Given the description of an element on the screen output the (x, y) to click on. 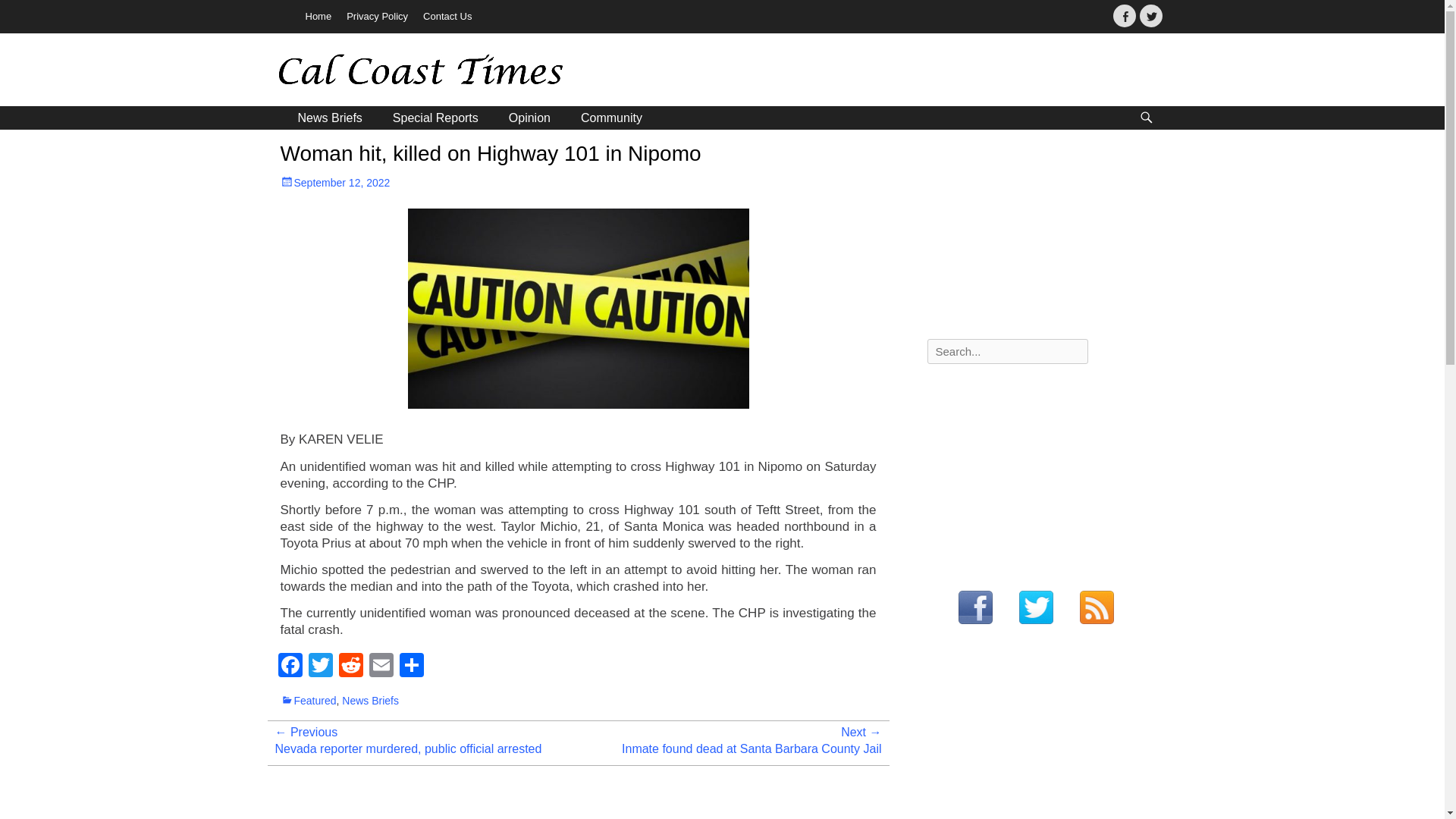
Contact Us (446, 16)
News Briefs (370, 700)
3rd party ad content (900, 70)
Cal Coast Times on Facebook (974, 608)
Facebook (1124, 15)
Facebook (289, 666)
Email (380, 666)
Twitter (319, 666)
Facebook (289, 666)
Share (411, 666)
3rd party ad content (1040, 737)
Home (318, 16)
Opinion (529, 117)
Twitter (1149, 15)
